Given the description of an element on the screen output the (x, y) to click on. 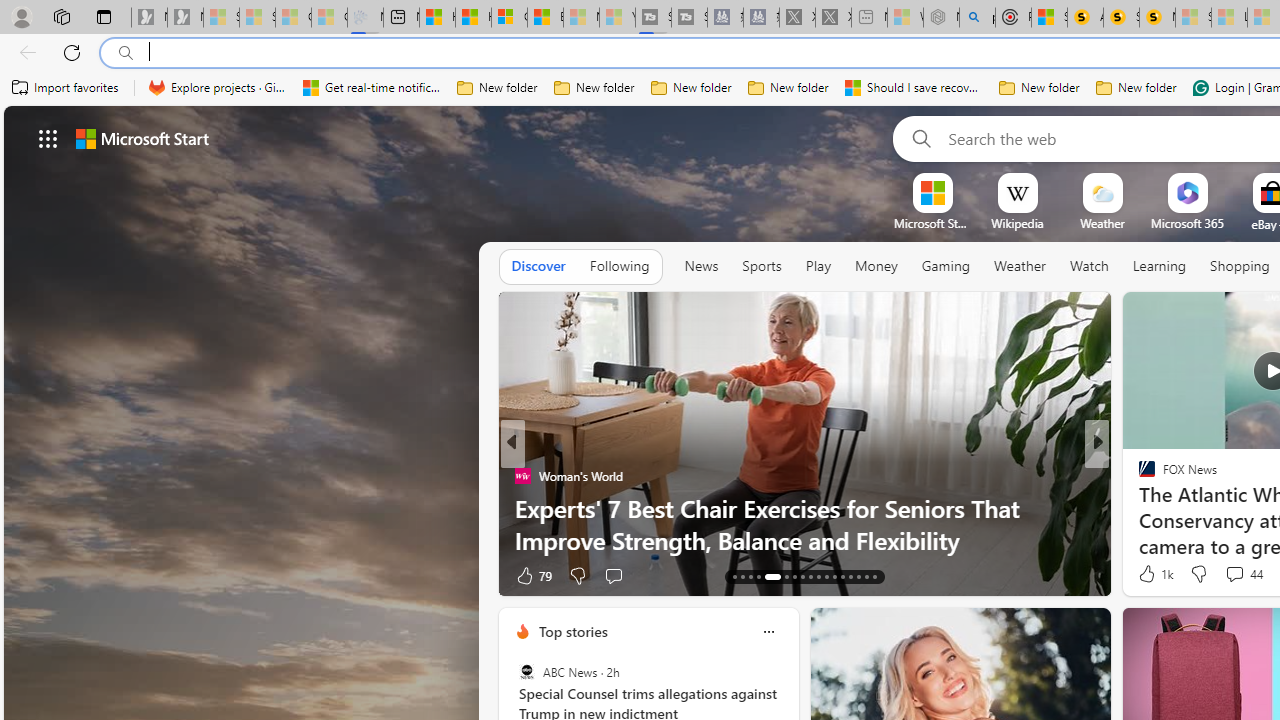
News (701, 265)
634 Like (1151, 574)
Following (619, 265)
AutomationID: tab-13 (733, 576)
News (701, 267)
AutomationID: tab-23 (825, 576)
Tab actions menu (104, 16)
AutomationID: tab-16 (757, 576)
Wildlife - MSN - Sleeping (905, 17)
Start the conversation (1222, 574)
